Given the description of an element on the screen output the (x, y) to click on. 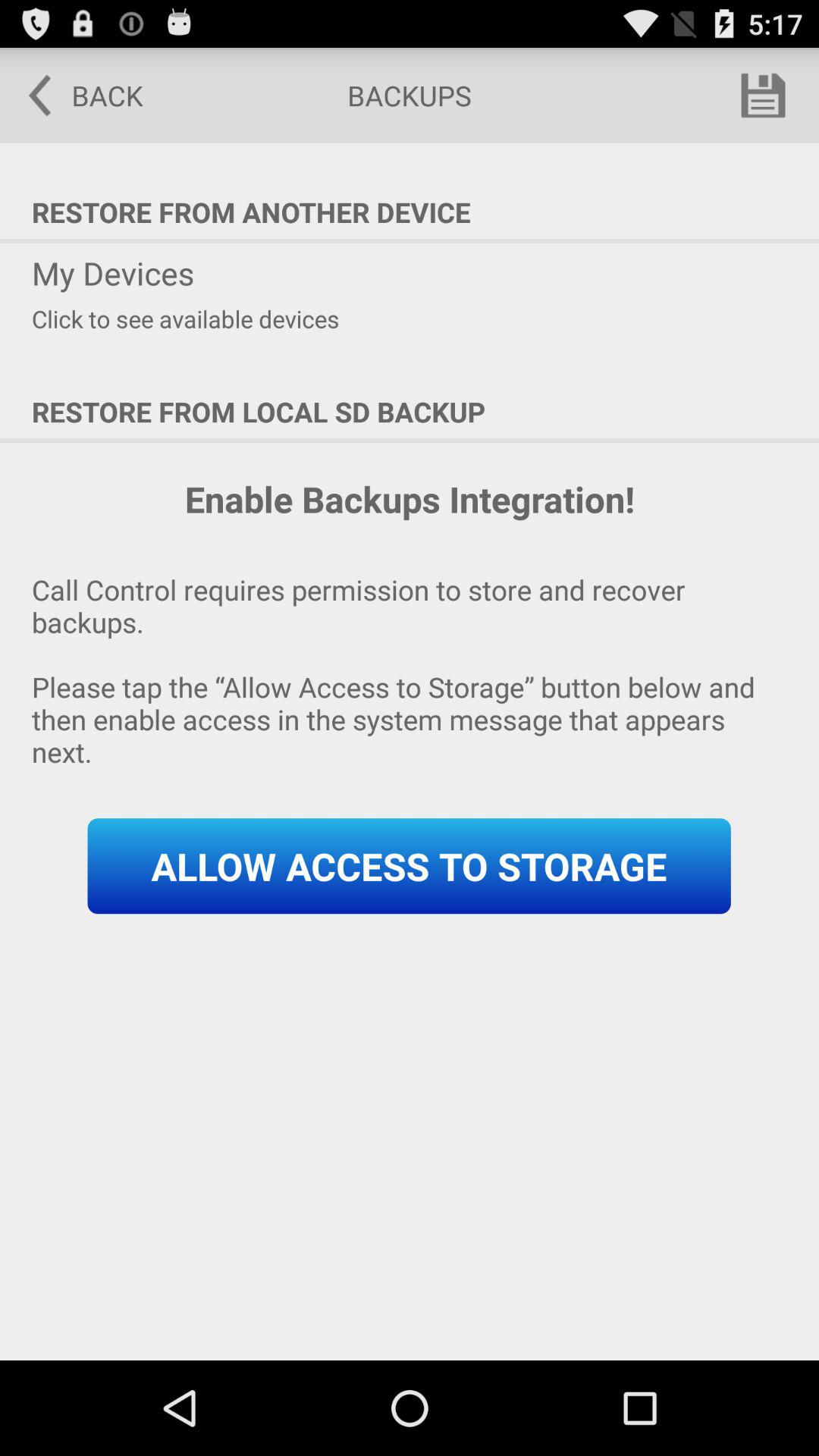
choose the app next to backups icon (75, 95)
